Given the description of an element on the screen output the (x, y) to click on. 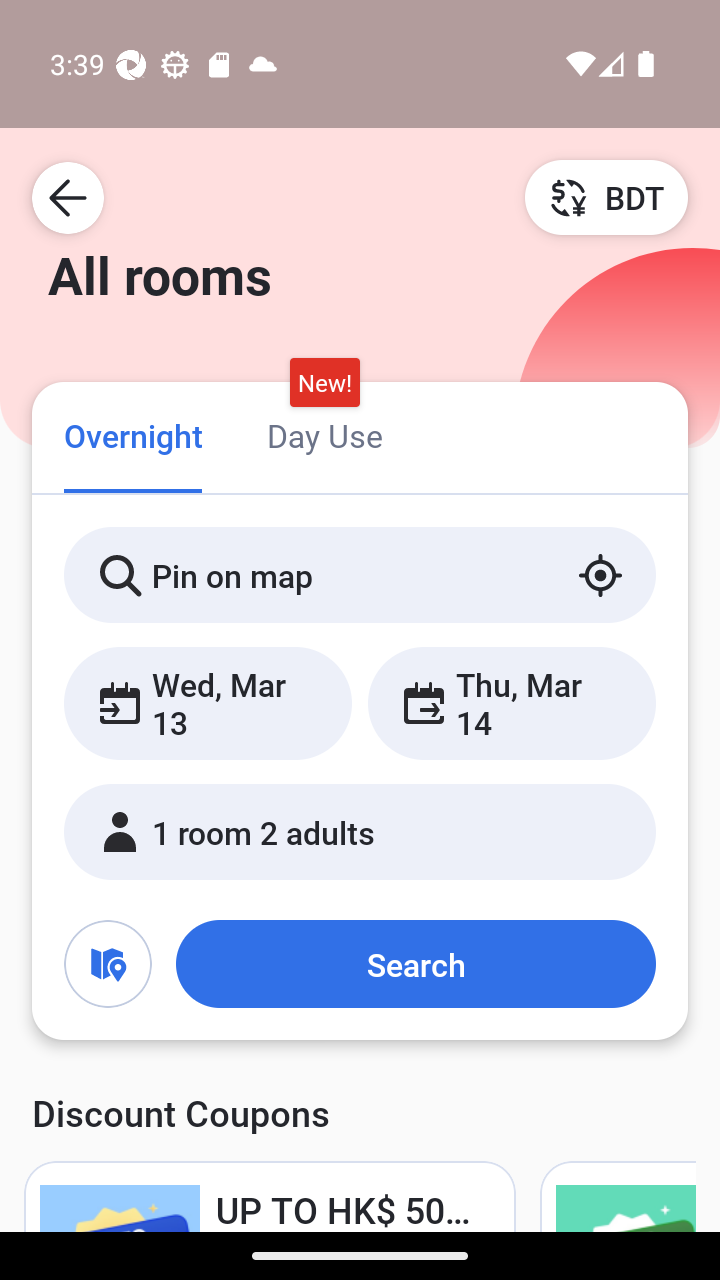
BDT (606, 197)
New! (324, 383)
Day Use (324, 434)
Pin on map (359, 575)
Wed, Mar 13 (208, 703)
Thu, Mar 14 (511, 703)
1 room 2 adults (359, 831)
Search (415, 964)
